Given the description of an element on the screen output the (x, y) to click on. 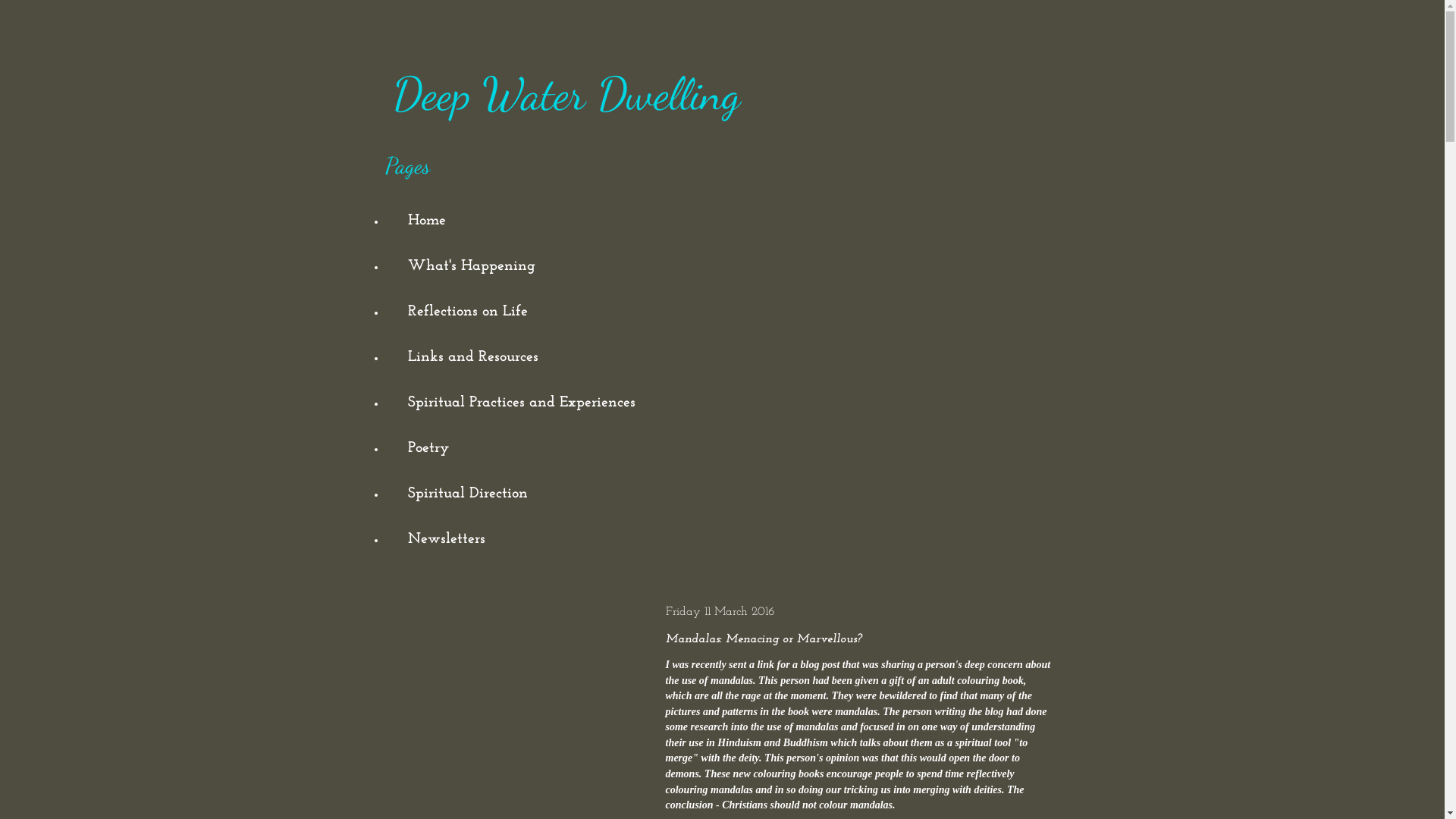
Newsletters Element type: text (446, 538)
Spiritual Direction Element type: text (467, 493)
Links and Resources Element type: text (473, 356)
Spiritual Practices and Experiences Element type: text (521, 402)
What's Happening Element type: text (471, 265)
Deep Water Dwelling Element type: text (566, 93)
Reflections on Life Element type: text (467, 311)
Poetry Element type: text (428, 447)
Home Element type: text (426, 220)
